Given the description of an element on the screen output the (x, y) to click on. 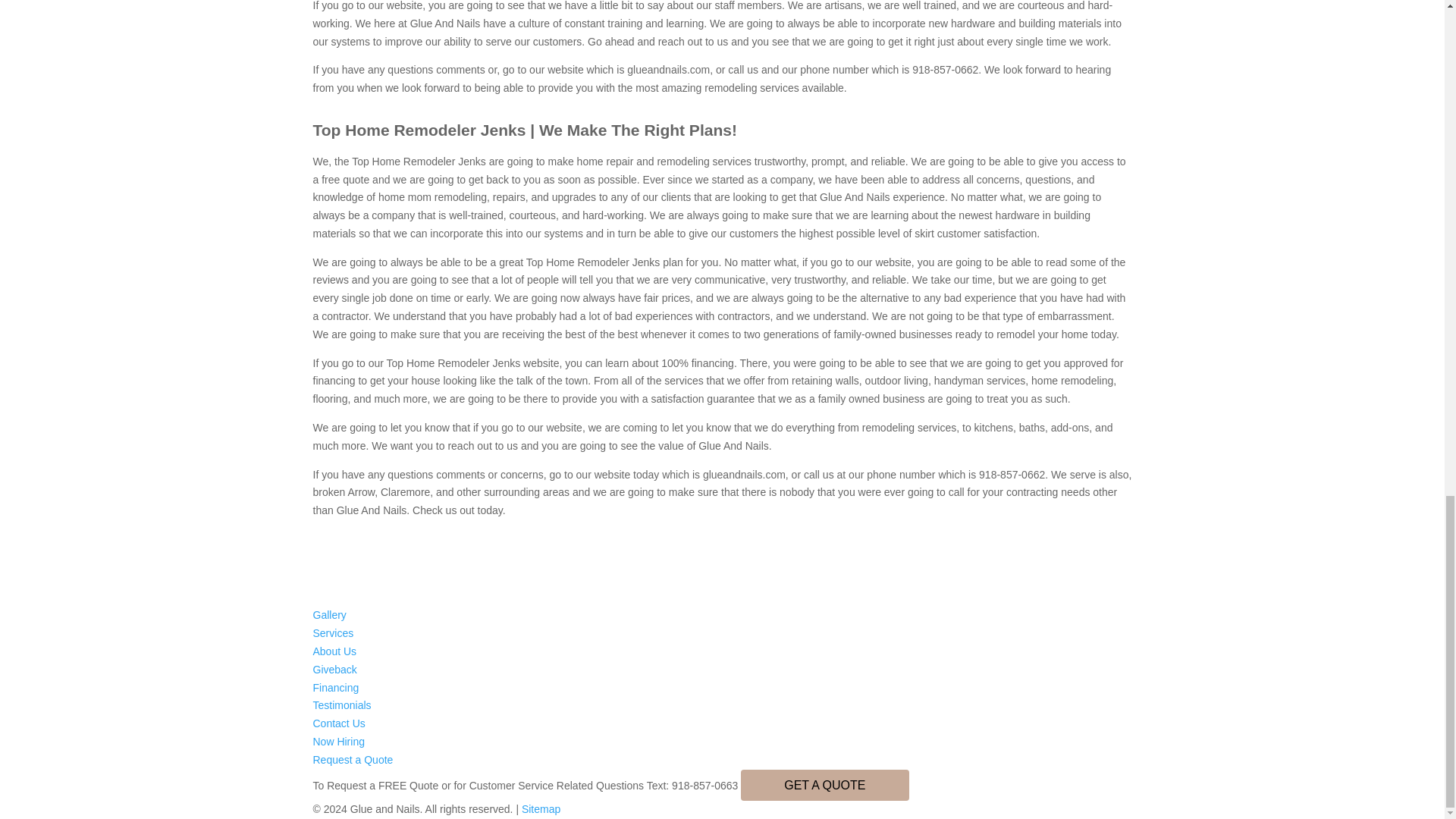
Request a Quote (353, 759)
Now Hiring (338, 741)
Testimonials (342, 705)
Gallery (329, 614)
About Us (334, 651)
Services (333, 633)
Financing (335, 687)
Contact Us (339, 723)
Sitemap (540, 808)
GET A QUOTE (824, 784)
Giveback (334, 669)
